Given the description of an element on the screen output the (x, y) to click on. 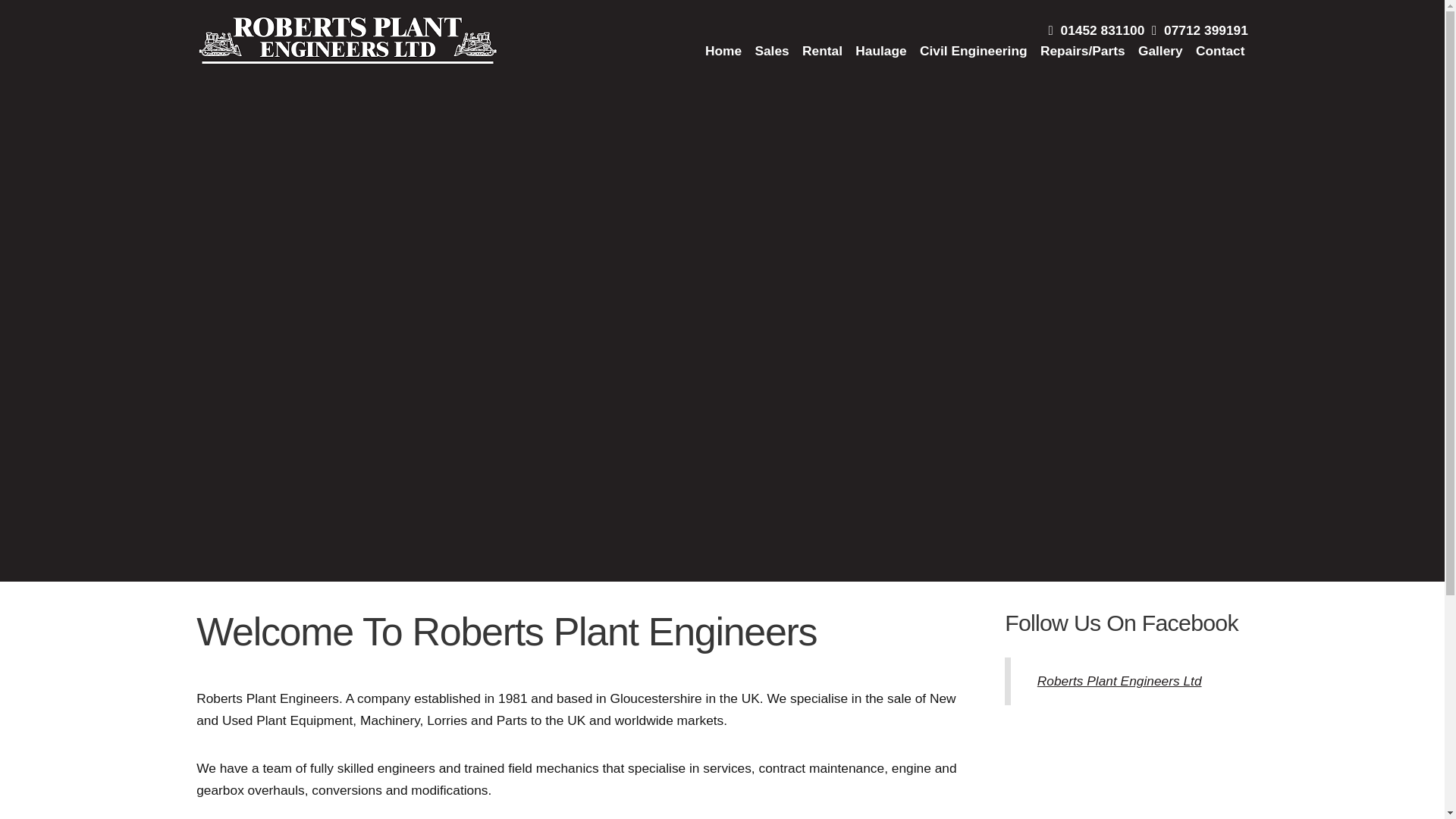
Rental (822, 51)
  07712 399191 (1199, 29)
Haulage (880, 51)
Roberts Plant Engineers Ltd (1119, 680)
Gallery (1160, 51)
Contact (1219, 51)
Civil Engineering (973, 51)
Sales (771, 51)
Home (723, 51)
